Given the description of an element on the screen output the (x, y) to click on. 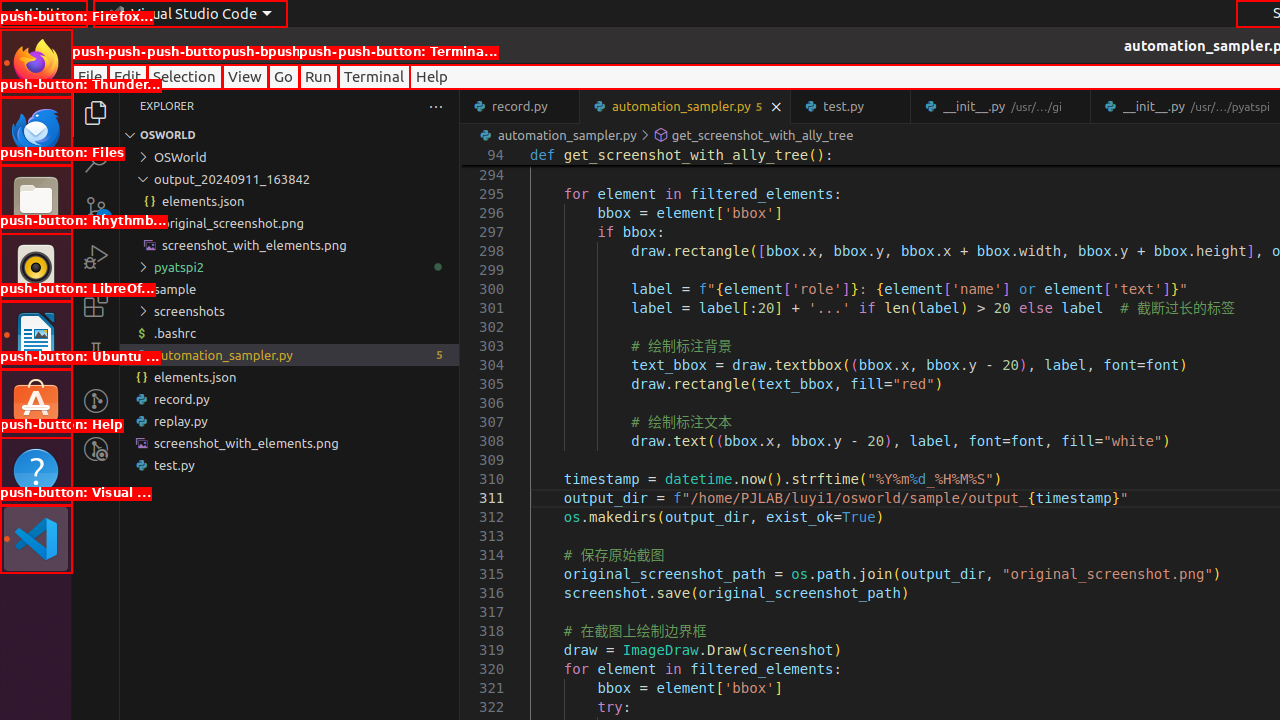
View Element type: push-button (245, 76)
Terminal Element type: push-button (374, 76)
Go Element type: push-button (283, 76)
